Given the description of an element on the screen output the (x, y) to click on. 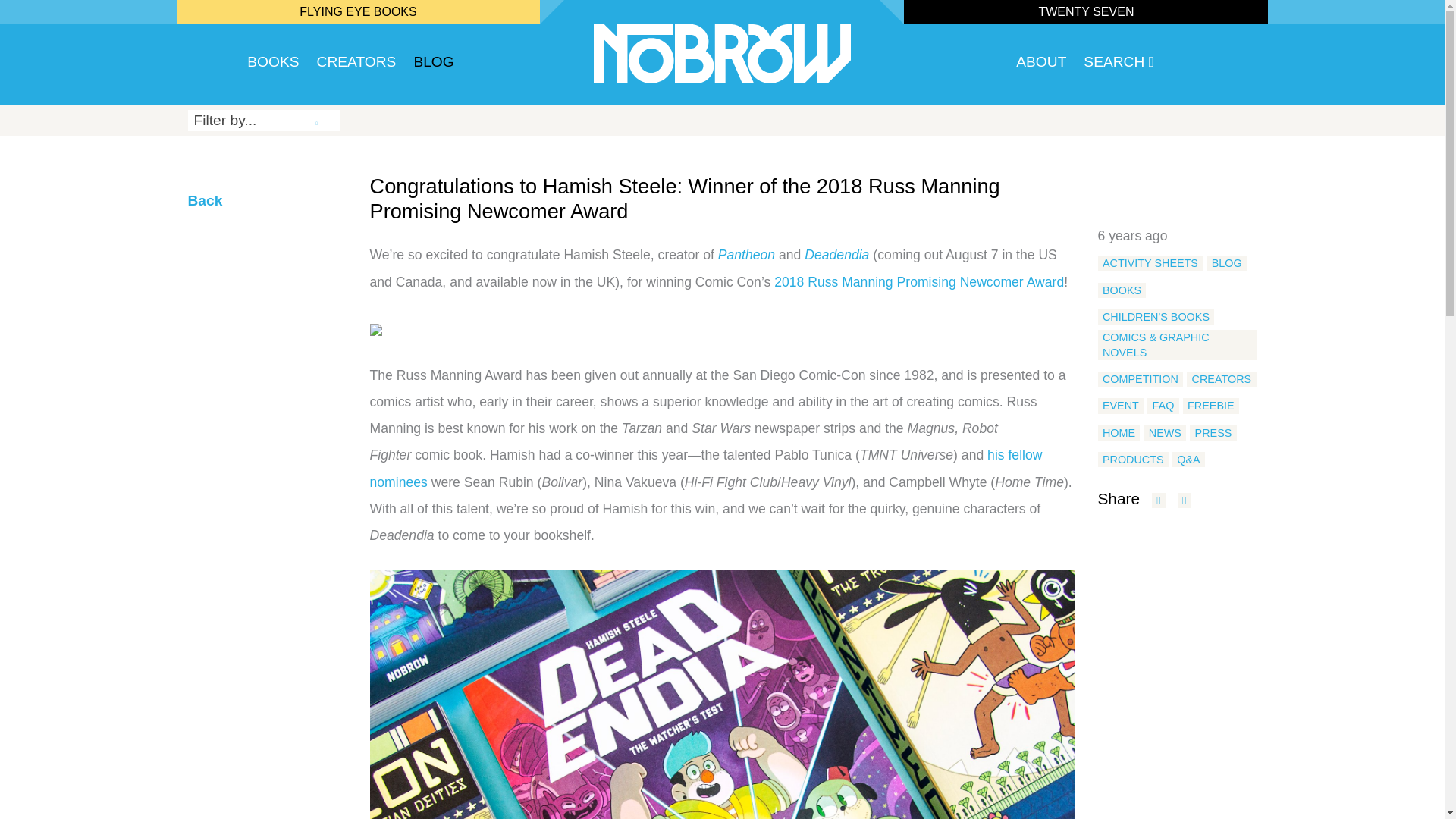
Pantheon (745, 254)
CHILDREN'S BOOKS (1155, 316)
2018 Russ Manning Promising Newcomer Award (919, 281)
CREATORS (356, 65)
BLOG (1226, 263)
FAQ (1163, 405)
CREATORS (1220, 378)
BOOKS (1122, 290)
TWENTY SEVEN (1086, 11)
FLYING EYE BOOKS (357, 11)
Deadendia (837, 254)
EVENT (1120, 405)
COMPETITION (1140, 378)
his fellow nominees (705, 467)
